Given the description of an element on the screen output the (x, y) to click on. 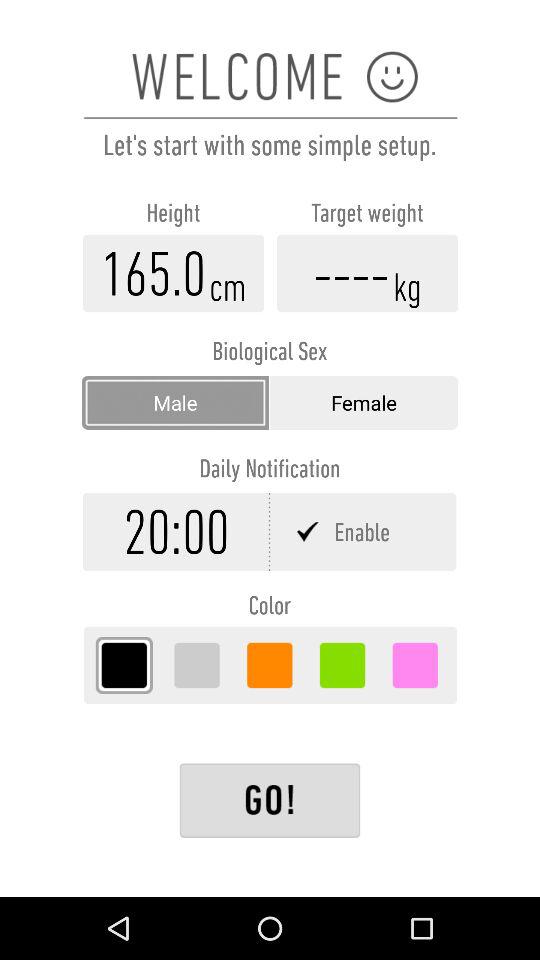
information (173, 273)
